Given the description of an element on the screen output the (x, y) to click on. 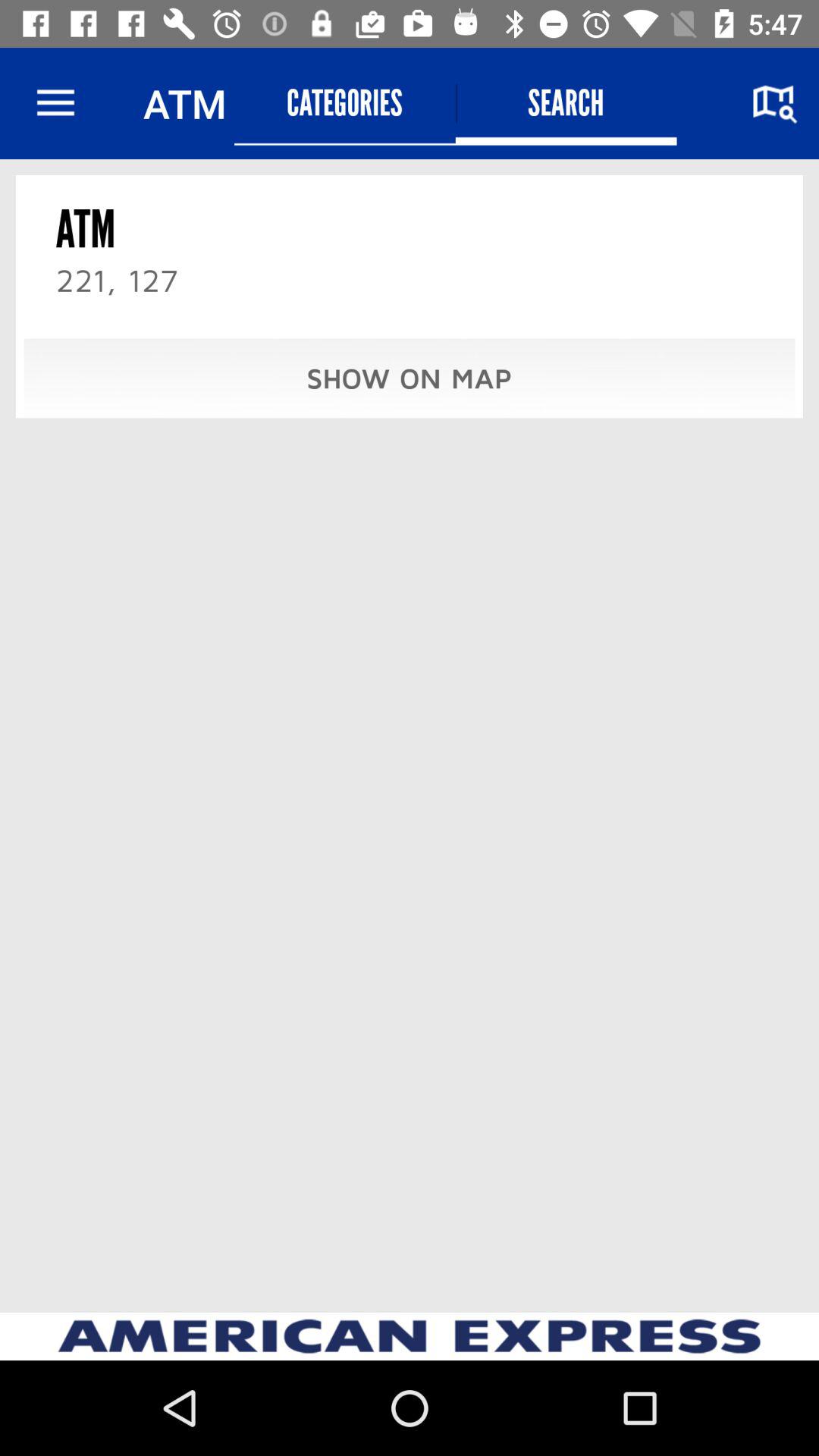
open the icon above the show on map (565, 103)
